Given the description of an element on the screen output the (x, y) to click on. 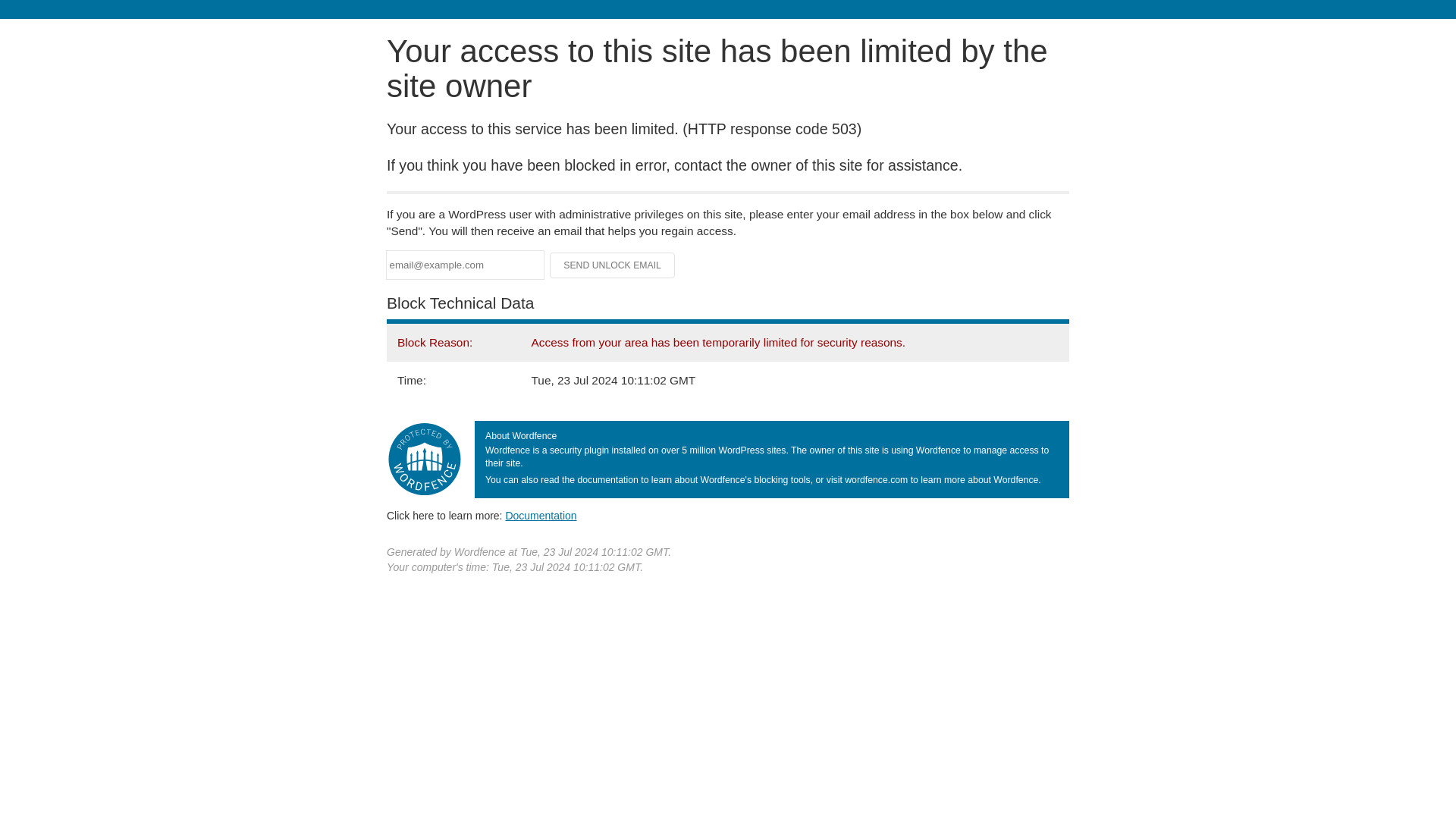
Send Unlock Email (612, 265)
Send Unlock Email (612, 265)
Documentation (540, 515)
